Given the description of an element on the screen output the (x, y) to click on. 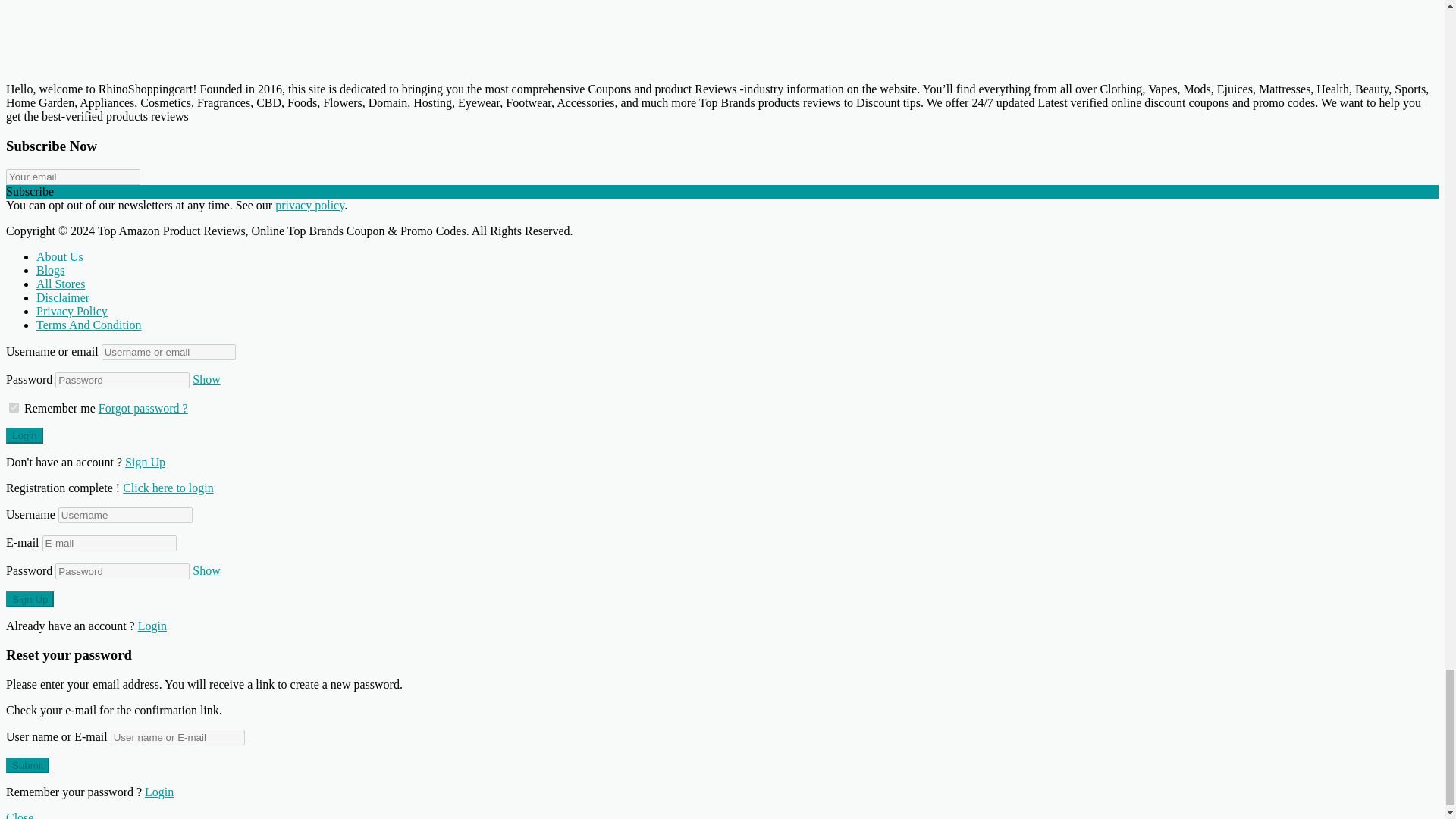
Login (24, 435)
Submit (27, 765)
forever (13, 406)
Sign Up (29, 599)
Login (168, 486)
